Given the description of an element on the screen output the (x, y) to click on. 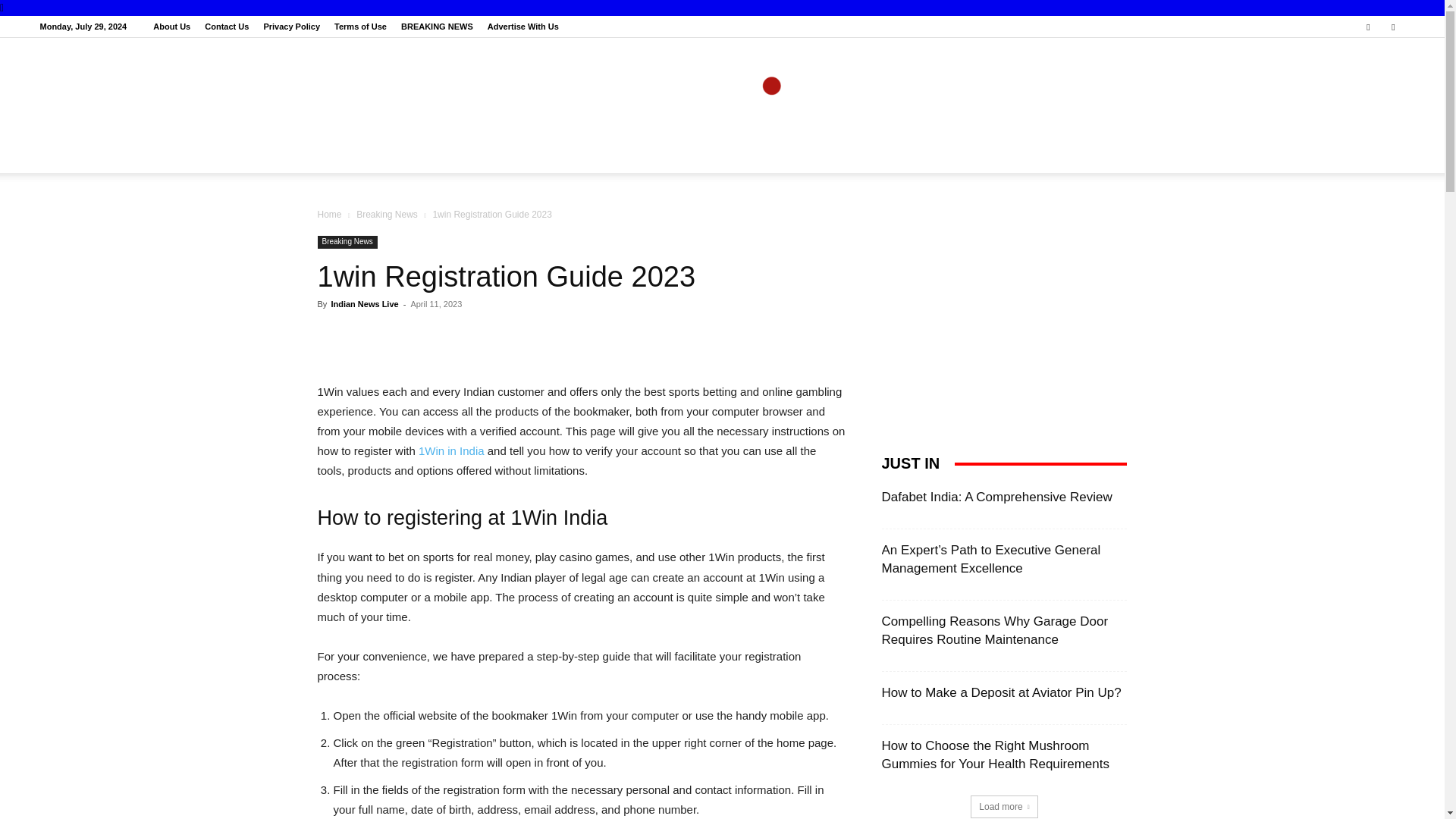
Facebook (1367, 25)
View all posts in Breaking News (386, 214)
Twitter (1393, 25)
